Given the description of an element on the screen output the (x, y) to click on. 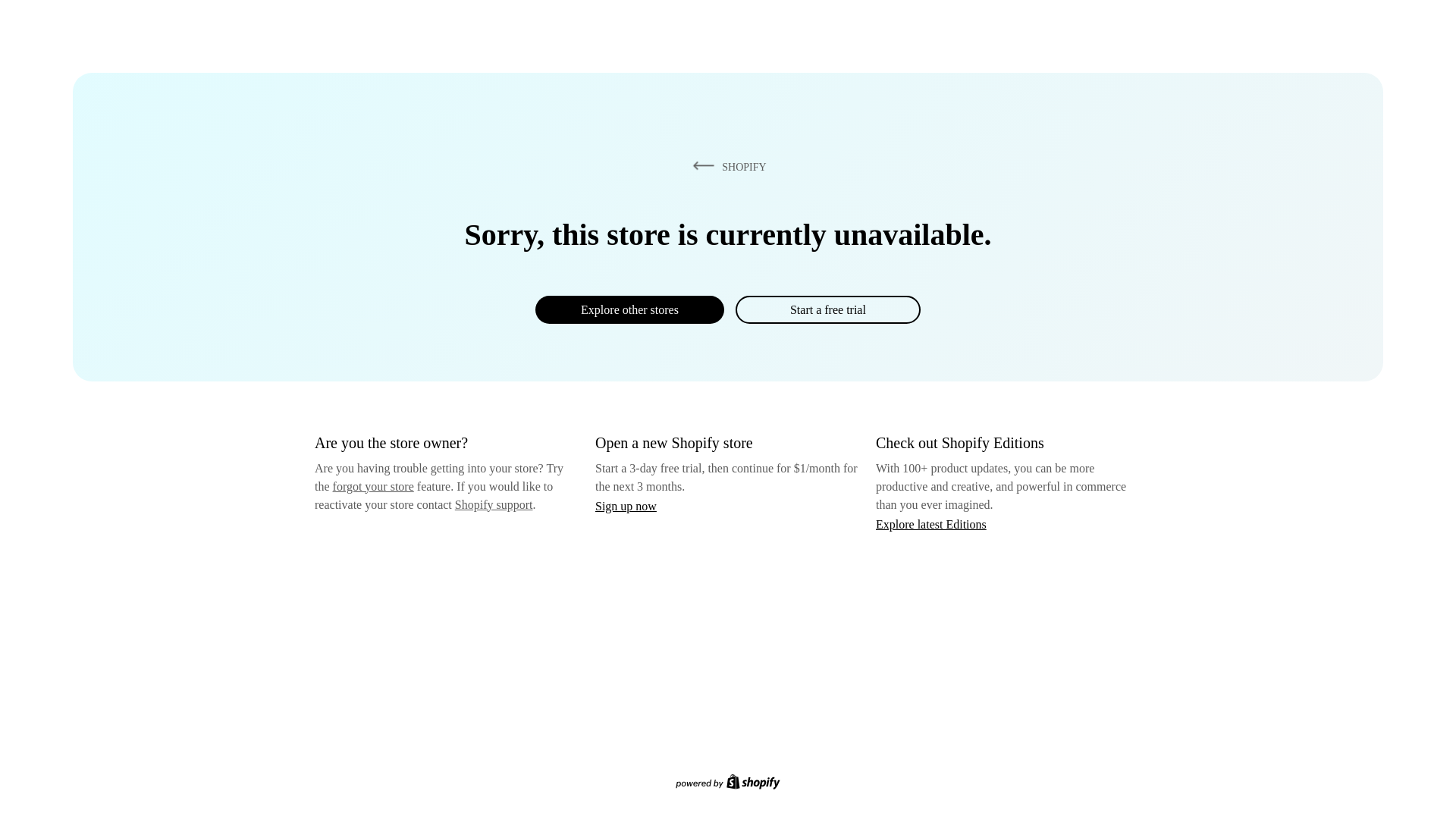
Explore other stores (629, 309)
Start a free trial (827, 309)
Shopify support (493, 504)
Explore latest Editions (931, 523)
SHOPIFY (726, 166)
Sign up now (625, 505)
forgot your store (373, 486)
